Given the description of an element on the screen output the (x, y) to click on. 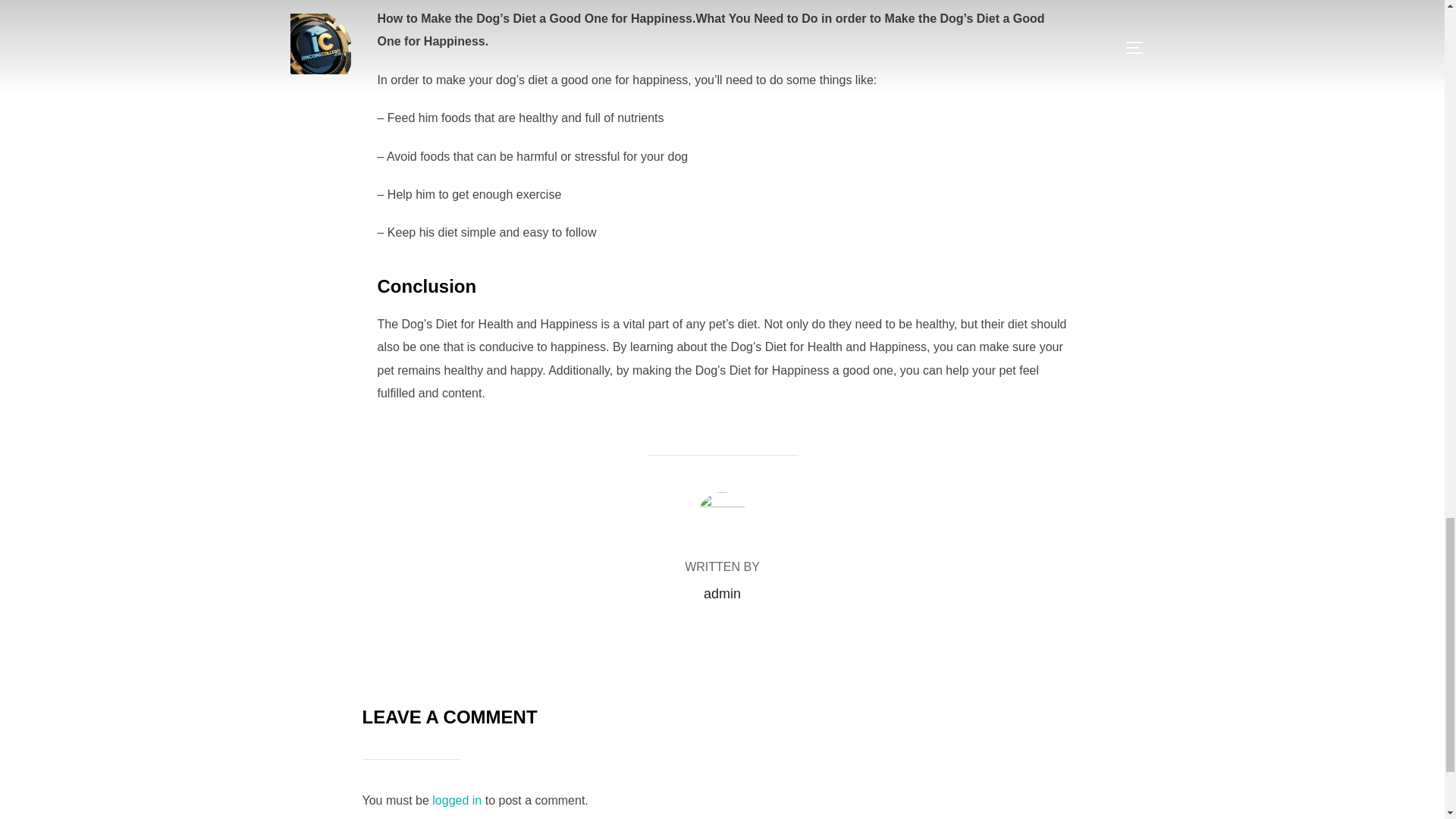
logged in (456, 799)
admin (722, 592)
Posts by admin (722, 592)
